Given the description of an element on the screen output the (x, y) to click on. 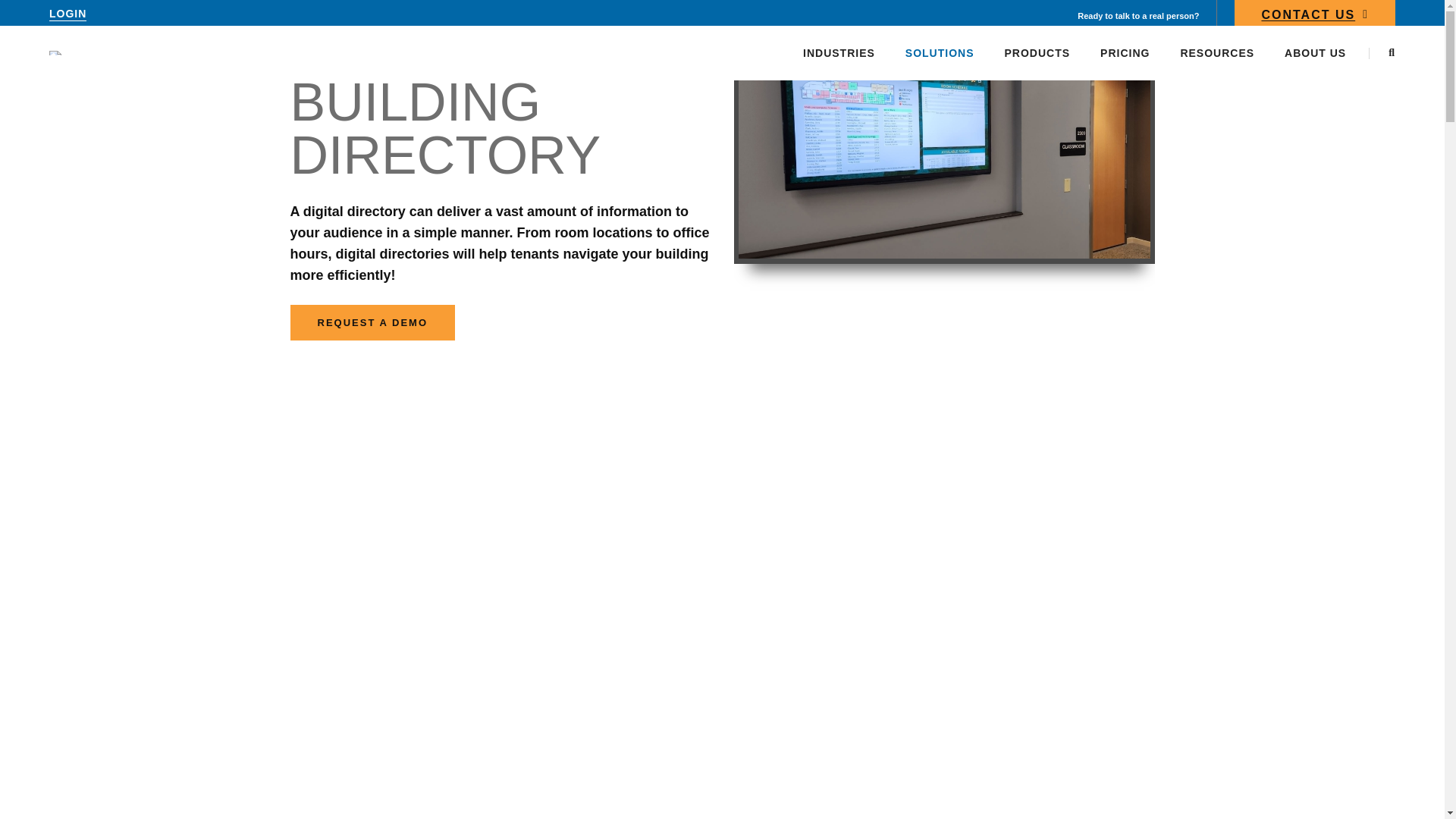
PRODUCTS (1037, 52)
SOLUTIONS (939, 52)
REACH Media Network (110, 51)
RESOURCES (1216, 52)
LOGIN (67, 13)
PRICING (1125, 52)
INDUSTRIES (839, 52)
CONTACT US (1314, 16)
